Given the description of an element on the screen output the (x, y) to click on. 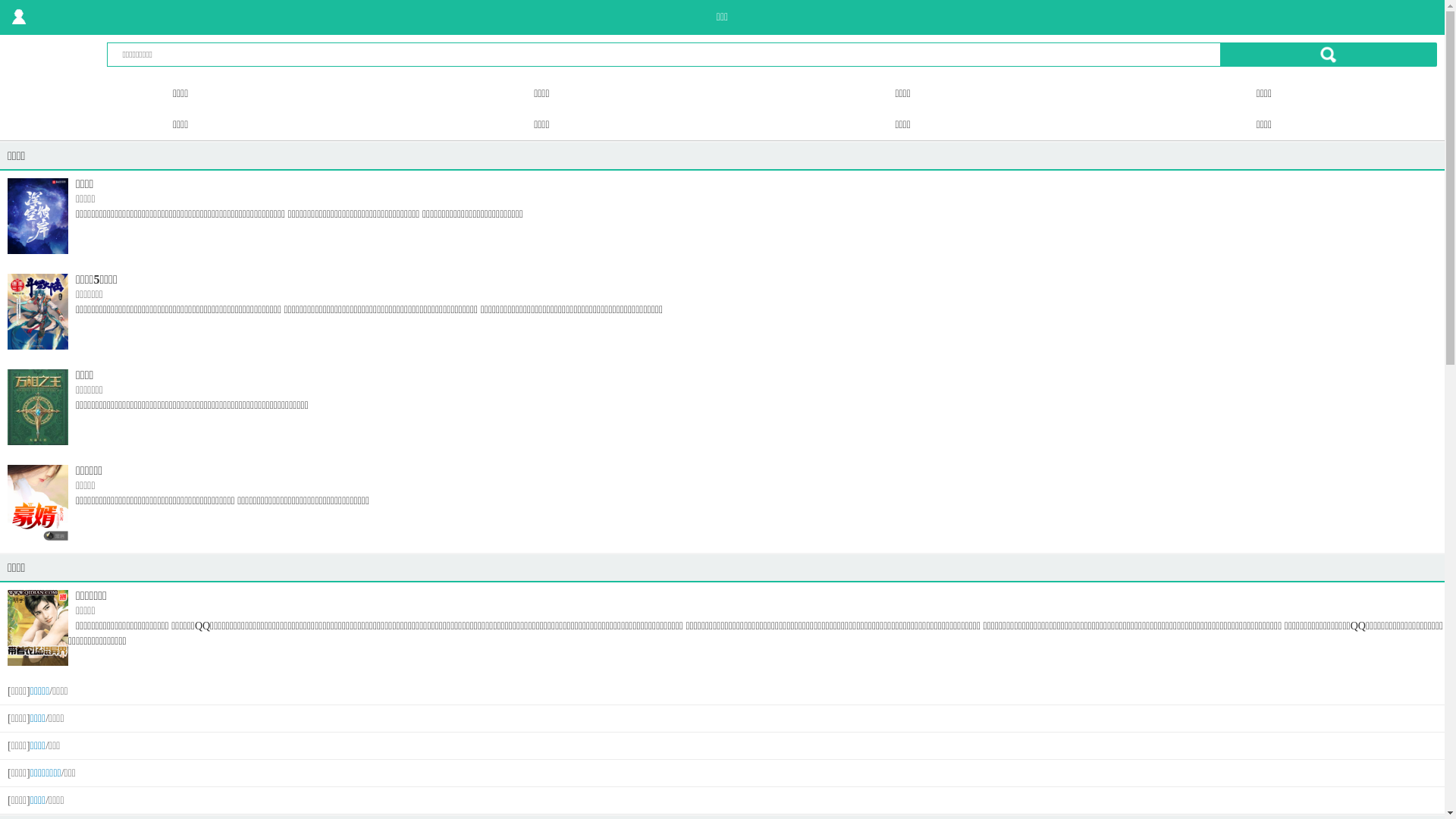
  Element type: text (18, 17)
